Given the description of an element on the screen output the (x, y) to click on. 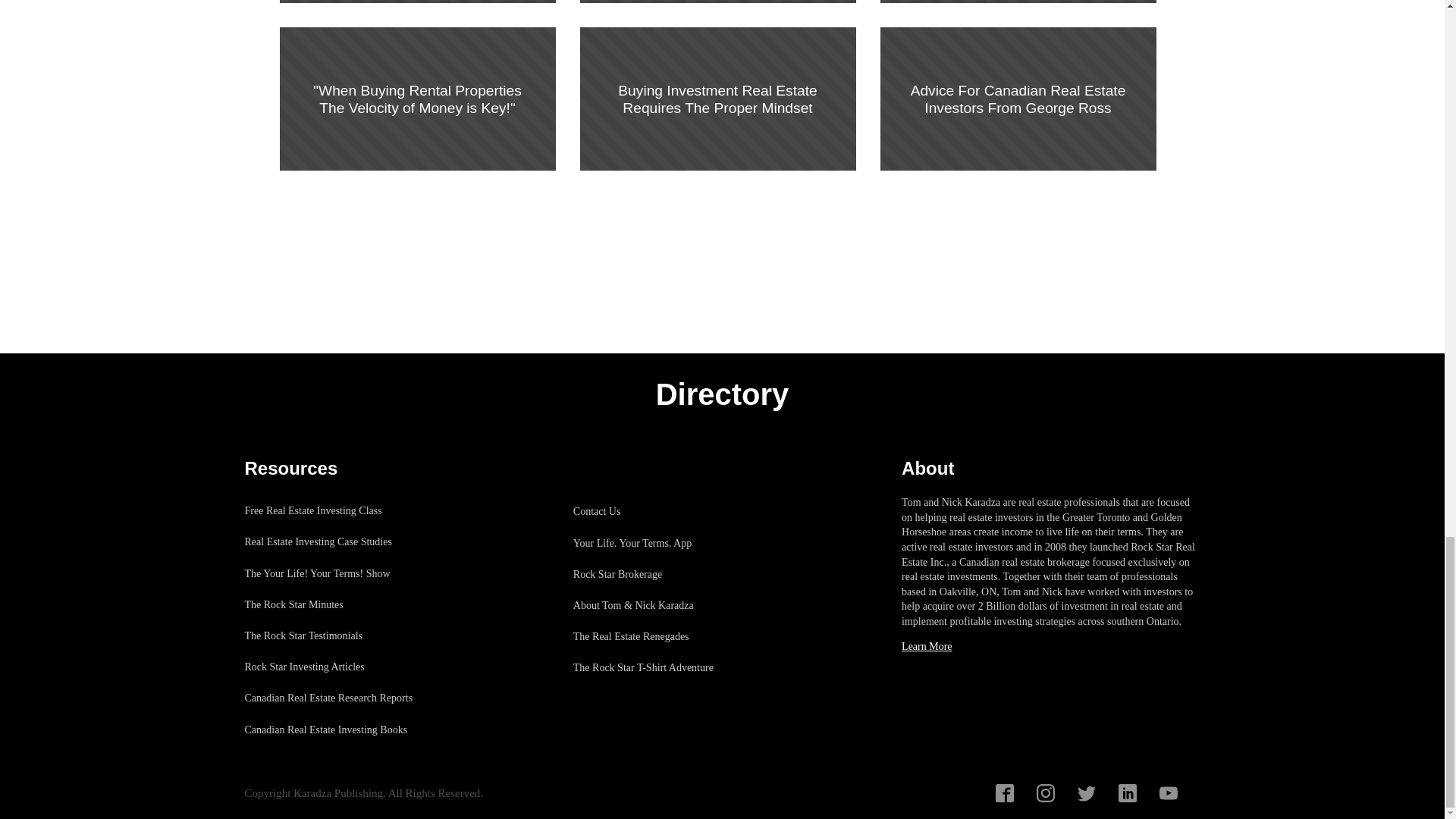
The Your Life! Your Terms! Show (336, 572)
Advice For Canadian Real Estate Investors From George Ross (1017, 98)
Contact Us (651, 511)
Your Life. Your Terms. App (651, 542)
The Rock Star Minutes (336, 603)
Free Real Estate Investing Class (336, 510)
The Real Estate Renegades (651, 635)
Canadian Real Estate Investing Books (336, 729)
The Rock Star T-Shirt Adventure (651, 667)
Buying Investment Real Estate Requires The Proper Mindset (717, 98)
Real Estate Investing Case Studies (336, 541)
The Rock Star Testimonials (336, 635)
